Given the description of an element on the screen output the (x, y) to click on. 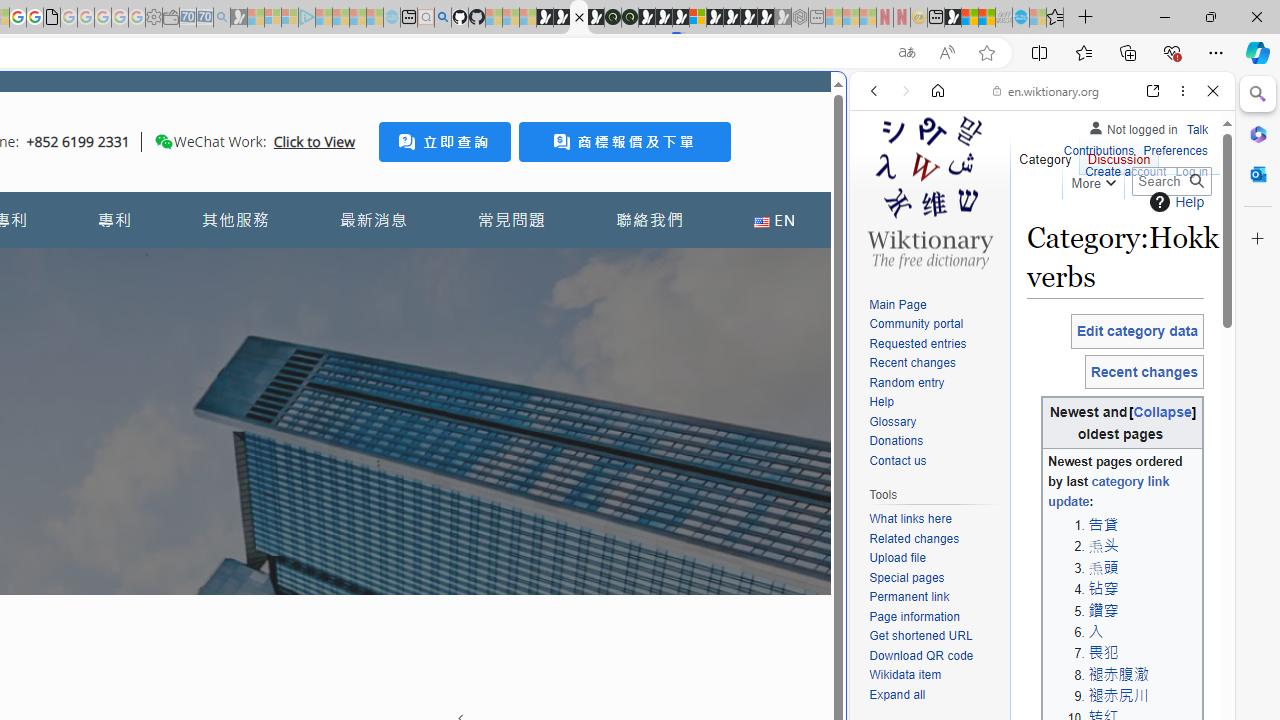
Upload file (934, 558)
Special pages (906, 577)
Class: desktop (163, 141)
Visit the main page (929, 190)
Contributions (1098, 151)
Glossary (892, 421)
